Given the description of an element on the screen output the (x, y) to click on. 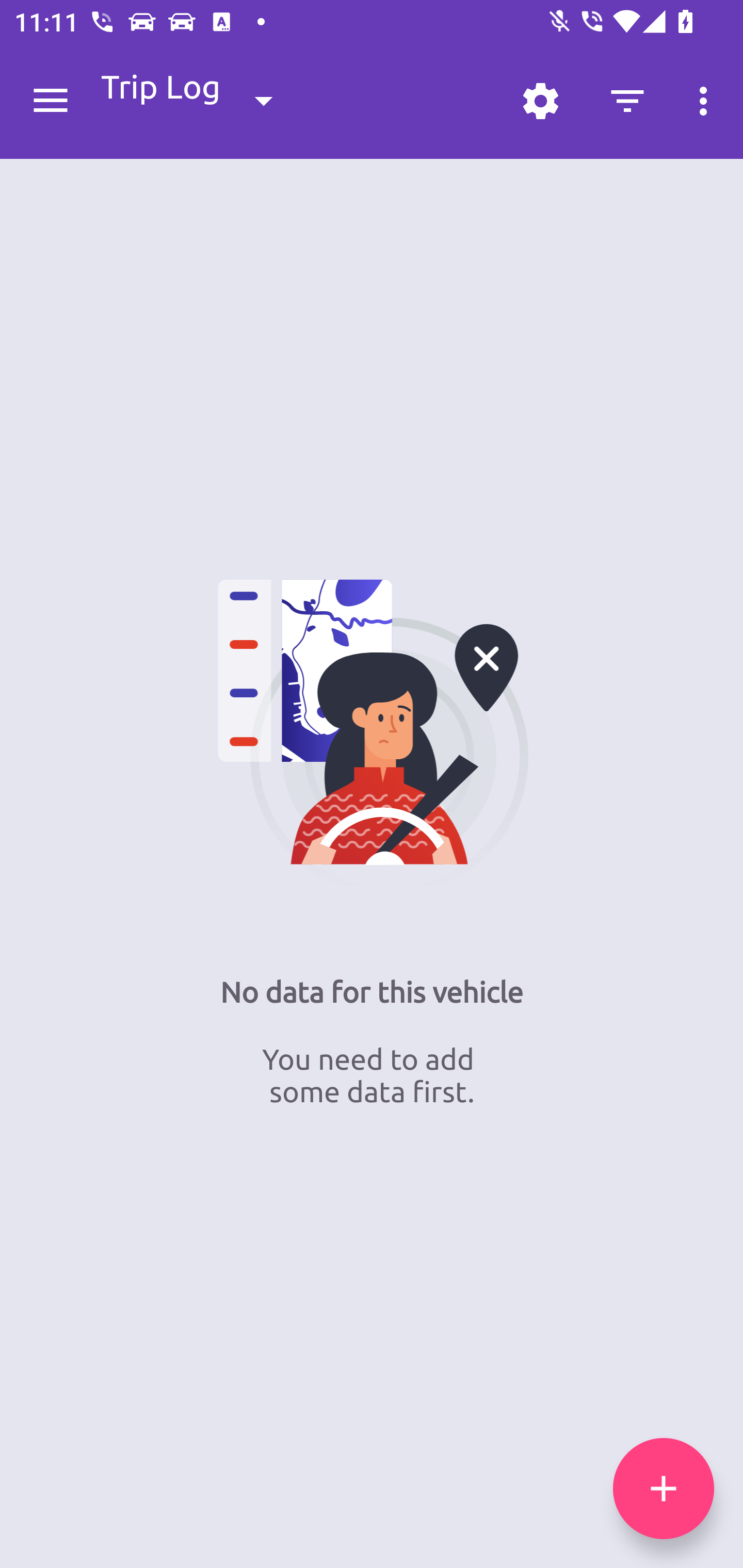
Fuelio (50, 101)
Settings (540, 101)
Filter (626, 101)
More options (706, 101)
Trip Log (203, 100)
